Given the description of an element on the screen output the (x, y) to click on. 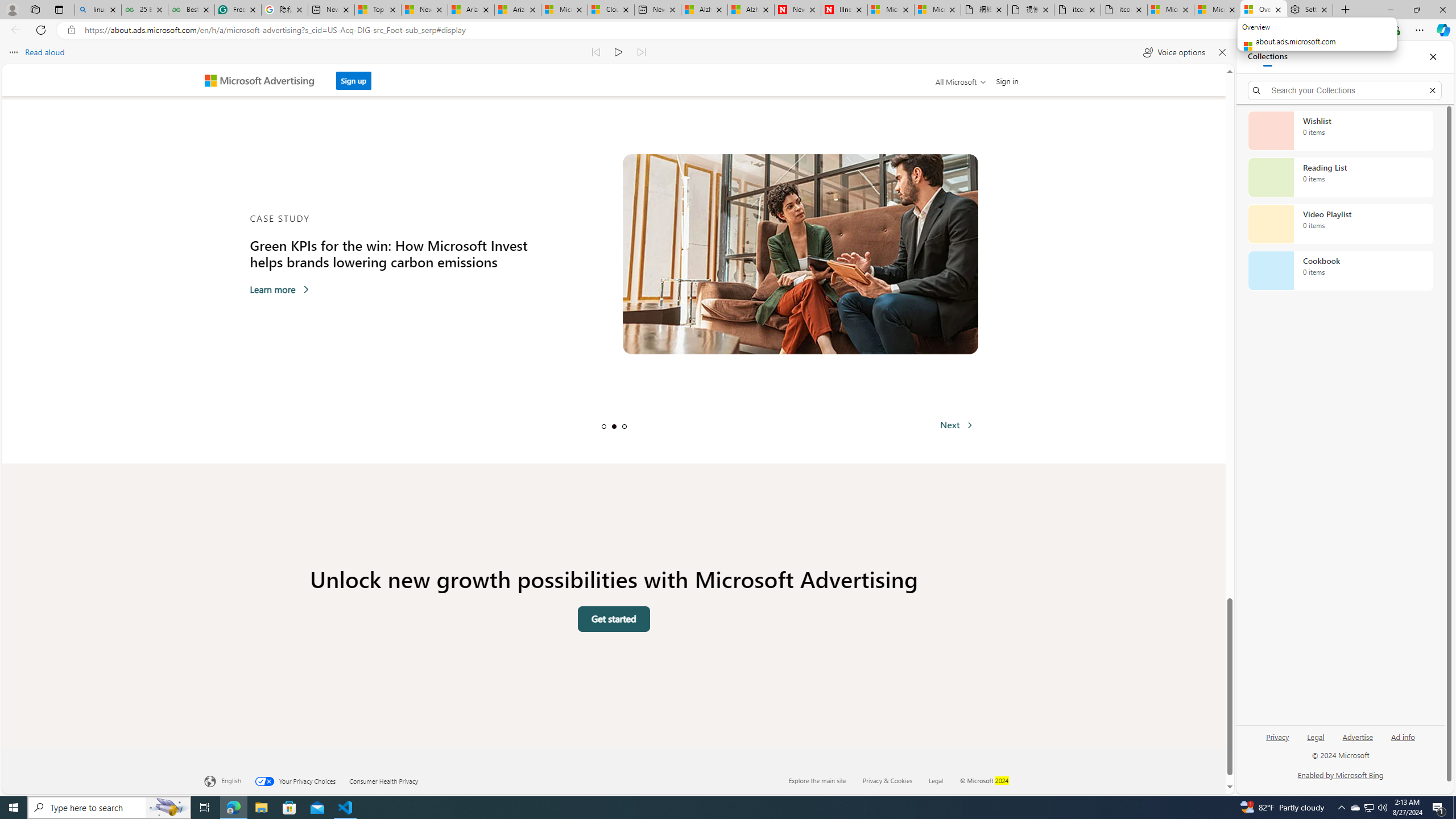
Consumer Health Privacy (390, 779)
Read previous paragraph (596, 52)
Search your Collections (1345, 90)
Microsoft Advertising (263, 79)
Close read aloud (1221, 52)
Get started (613, 619)
Video Playlist collection, 0 items (1339, 223)
Learn more (278, 289)
Cloud Computing Services | Microsoft Azure (610, 9)
Privacy & Cookies (887, 779)
